Given the description of an element on the screen output the (x, y) to click on. 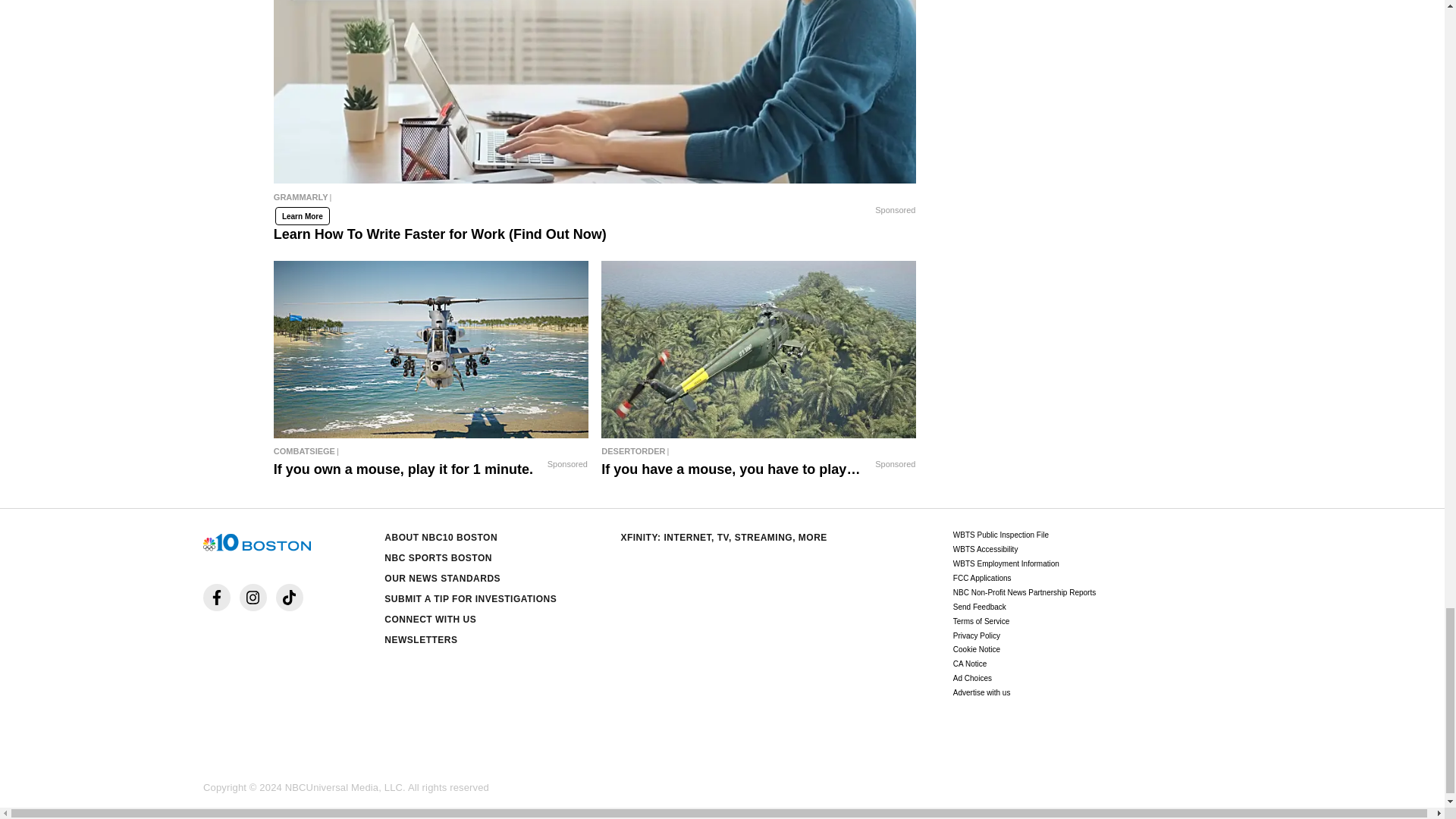
If you own a mouse, play it for 1 minute. (430, 451)
If you own a mouse, play it for 1 minute. (430, 349)
